Given the description of an element on the screen output the (x, y) to click on. 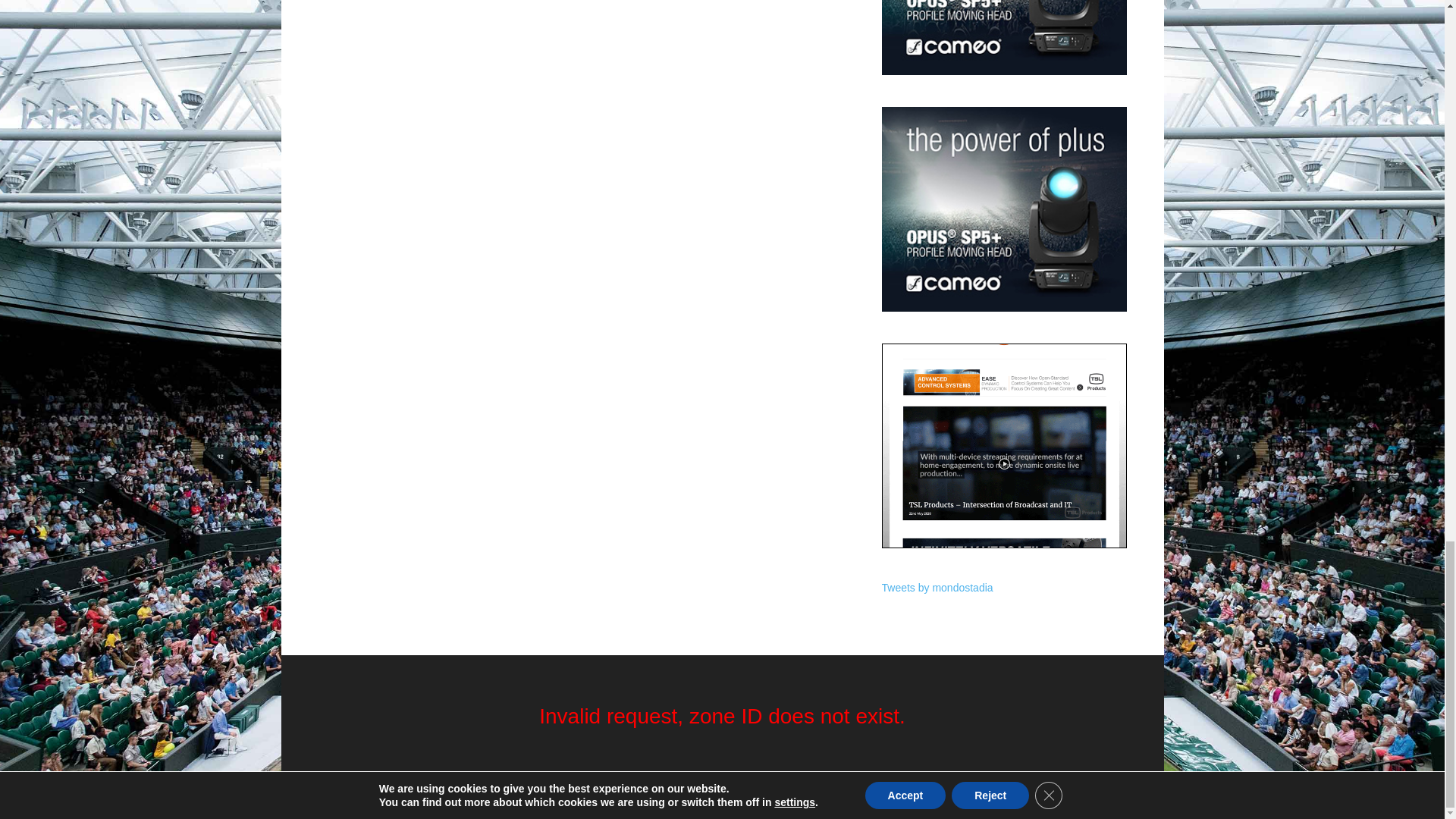
commentary box (1003, 445)
